Given the description of an element on the screen output the (x, y) to click on. 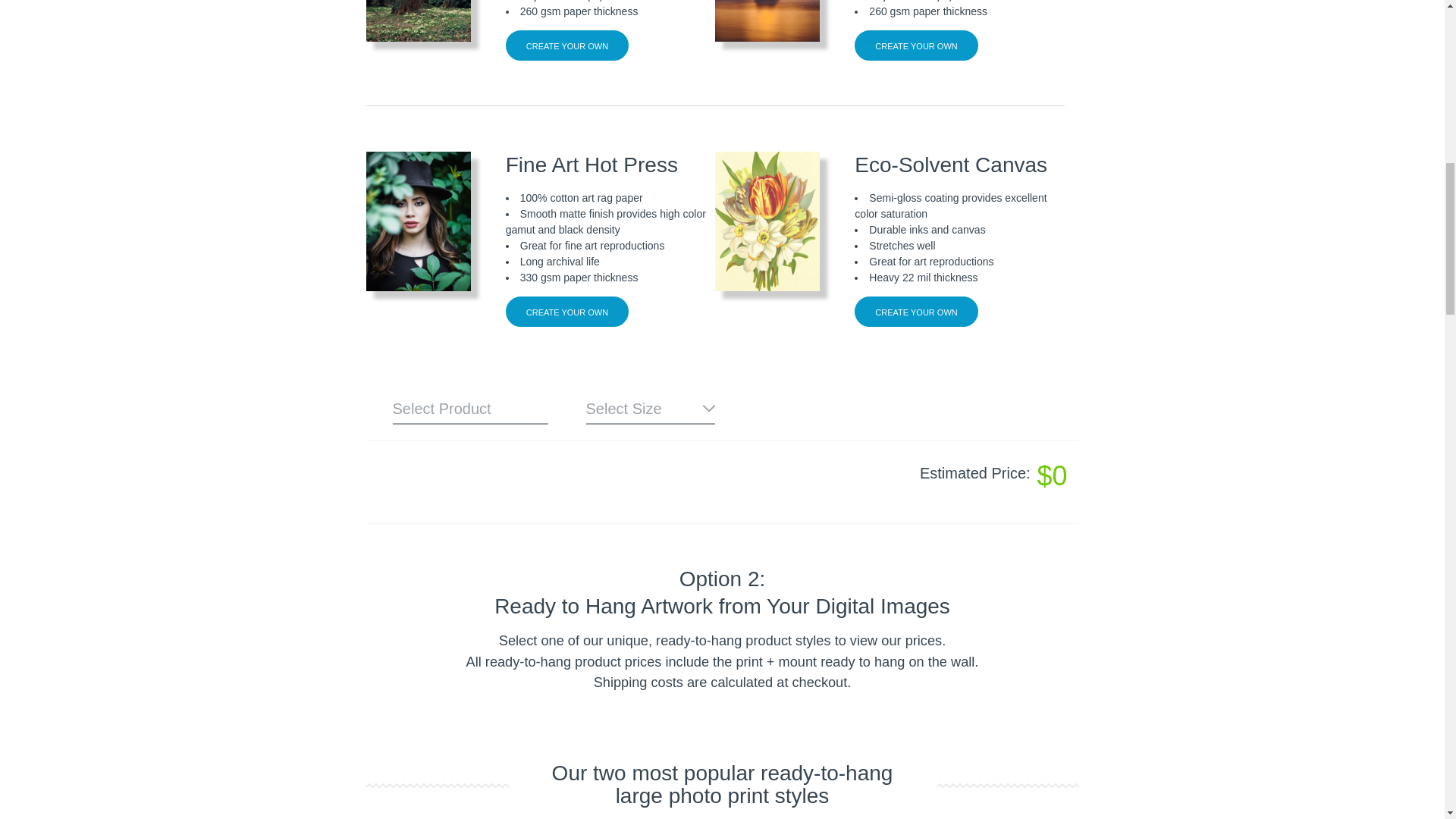
CREATE YOUR OWN (915, 311)
Select Size (649, 409)
Select Product (470, 409)
CREATE YOUR OWN (566, 311)
CREATE YOUR OWN (566, 45)
CREATE YOUR OWN (915, 45)
